Given the description of an element on the screen output the (x, y) to click on. 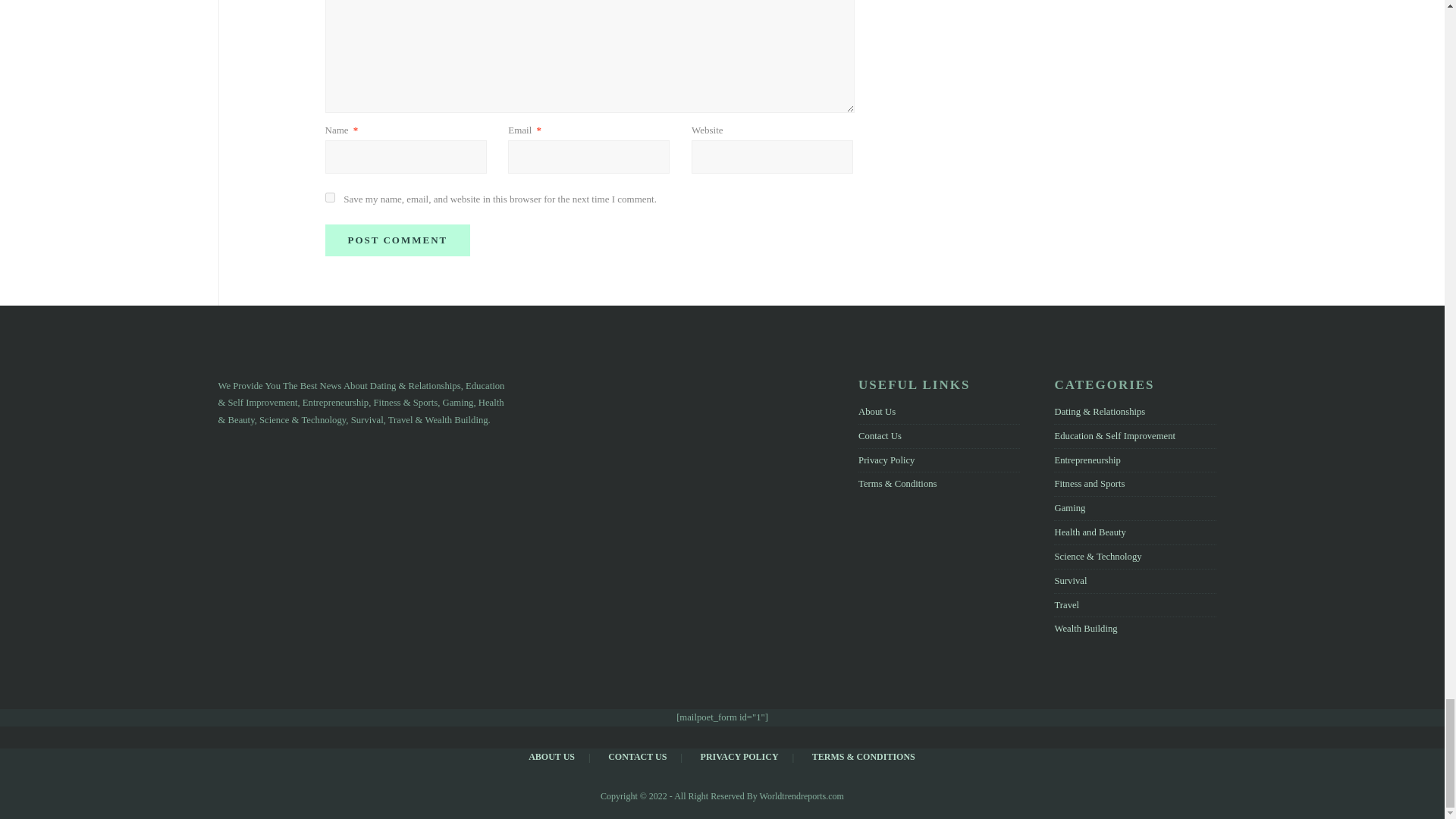
yes (329, 197)
Post Comment (397, 240)
